Given the description of an element on the screen output the (x, y) to click on. 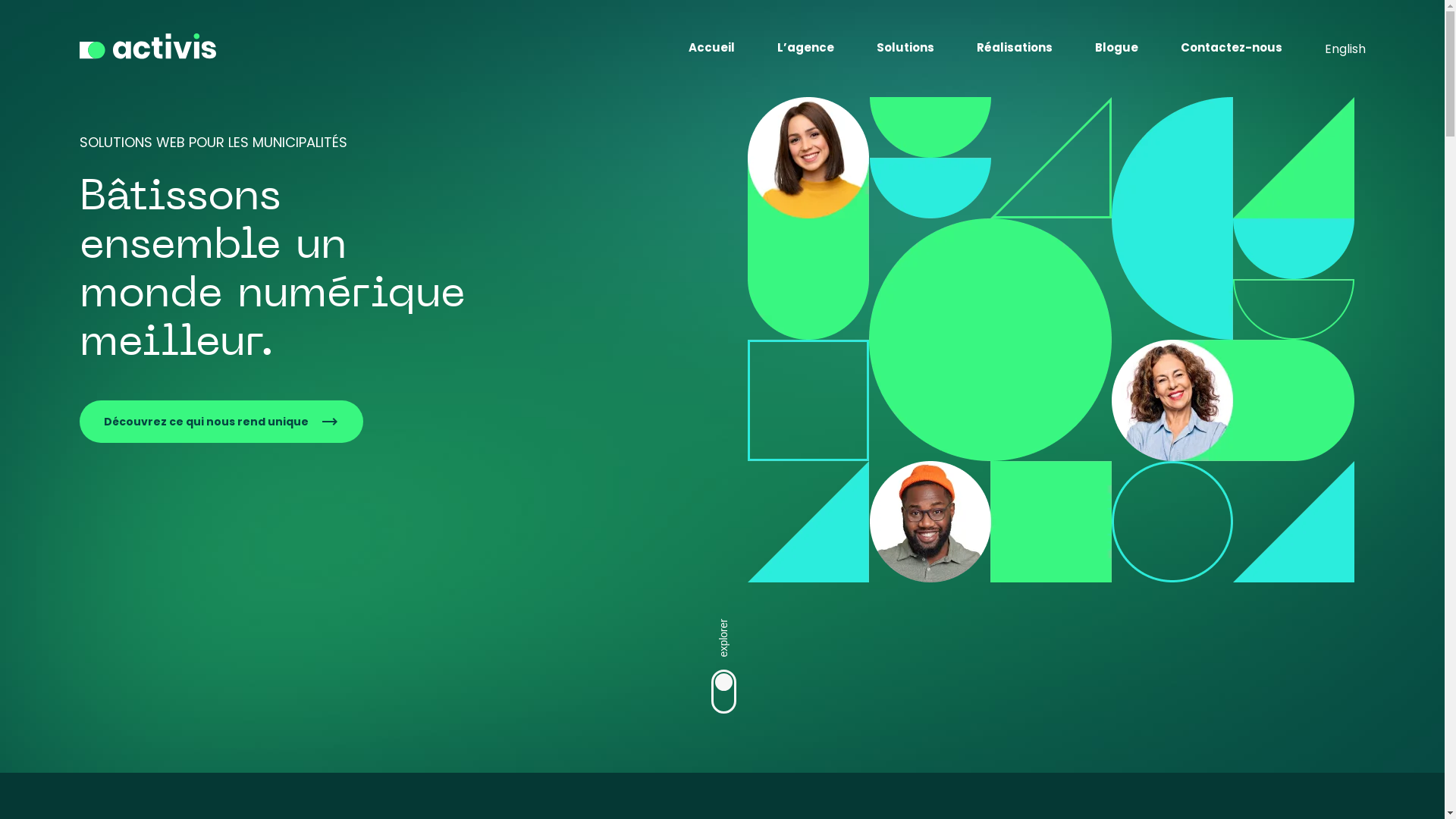
Accueil Element type: text (711, 50)
Blogue Element type: text (1116, 50)
Solutions Element type: text (905, 50)
English Element type: text (1344, 48)
Contactez-nous Element type: text (1230, 50)
